Given the description of an element on the screen output the (x, y) to click on. 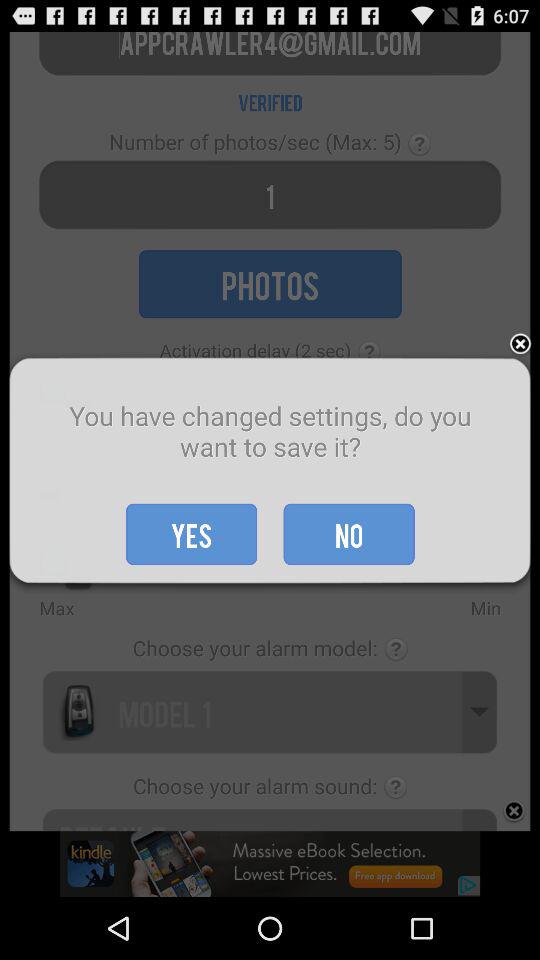
open app below the you have changed app (348, 534)
